Given the description of an element on the screen output the (x, y) to click on. 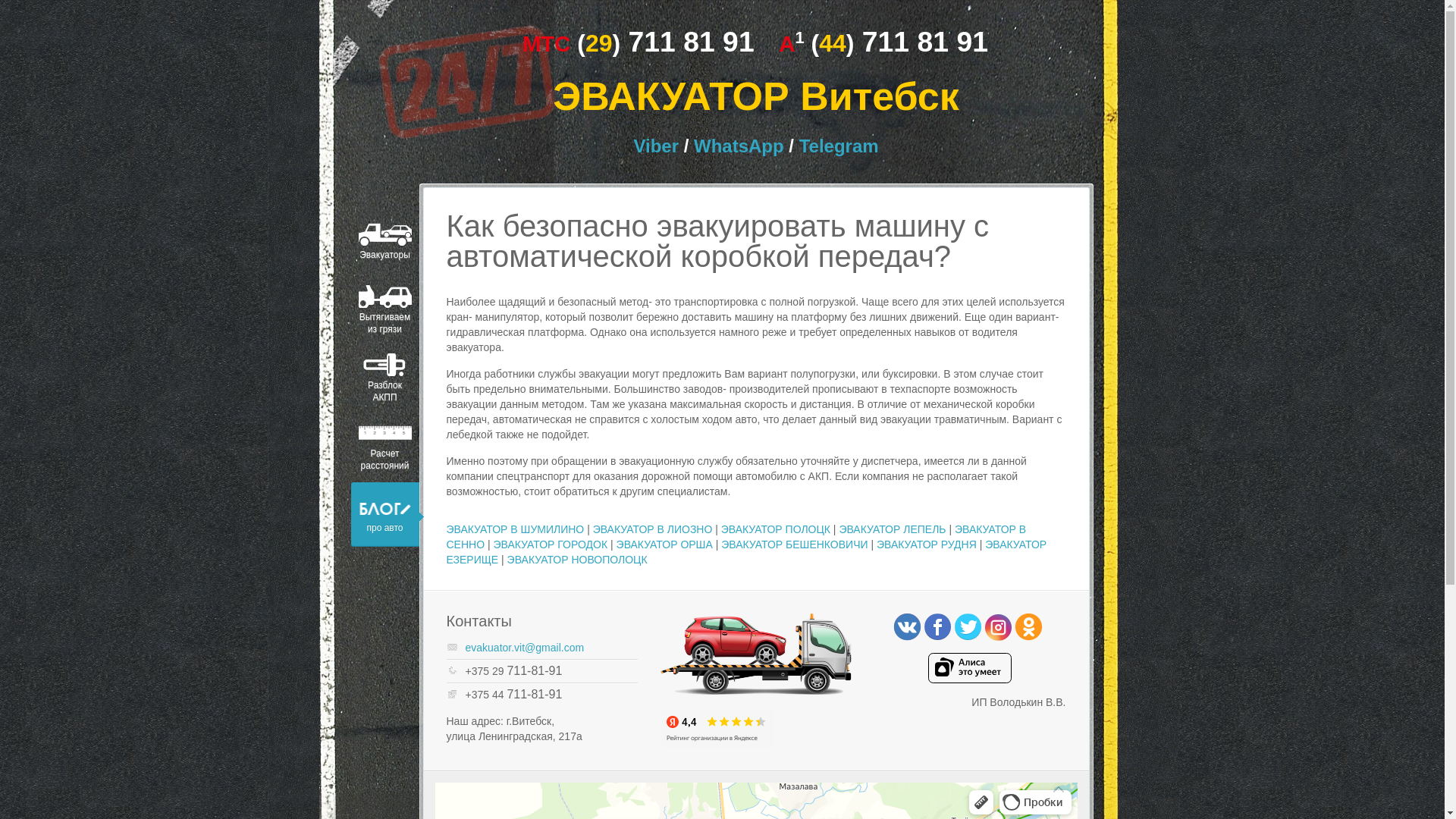
A1 (44) 711 81 91  Element type: text (886, 43)
Instagram Element type: hover (998, 627)
+375 44 711-81-91 Element type: text (551, 694)
evakuator.vit@gmail.com Element type: text (524, 647)
Facebook Element type: hover (937, 627)
Telegram Element type: text (838, 145)
+375 29 711-81-91 Element type: text (551, 670)
  Element type: text (421, 38)
Viber Element type: text (658, 145)
Twitter Element type: hover (967, 627)
evakuator.vit@gmail.com Element type: text (551, 647)
WhatsApp Element type: text (738, 145)
